Given the description of an element on the screen output the (x, y) to click on. 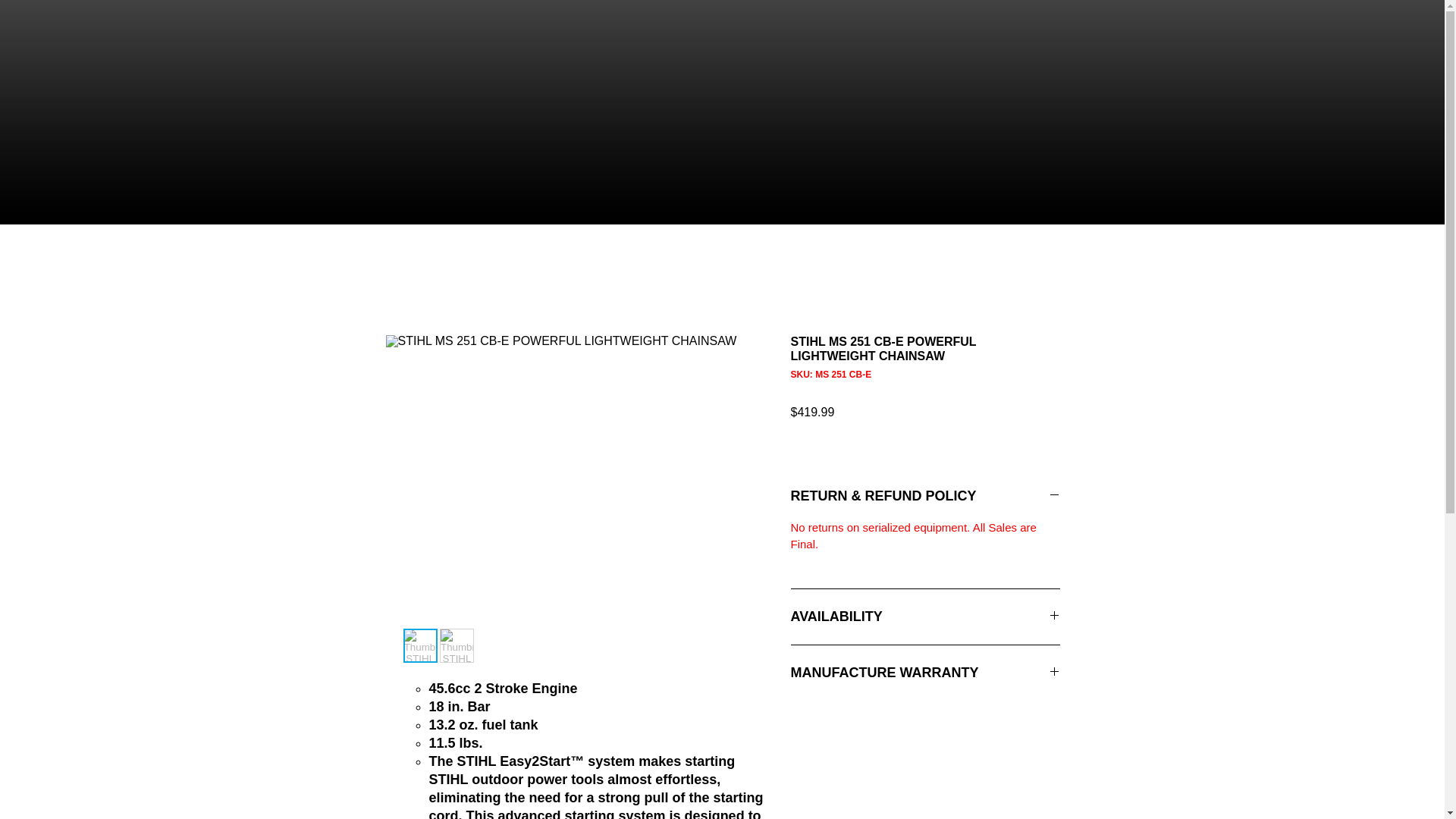
AVAILABILITY (924, 616)
MANUFACTURE WARRANTY (924, 672)
